Given the description of an element on the screen output the (x, y) to click on. 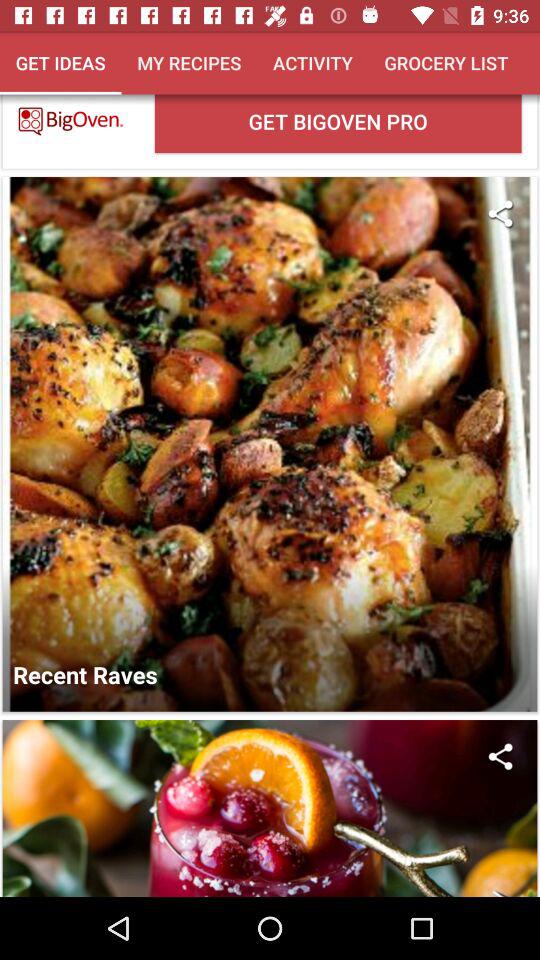
turn on get bigoven pro item (337, 123)
